Given the description of an element on the screen output the (x, y) to click on. 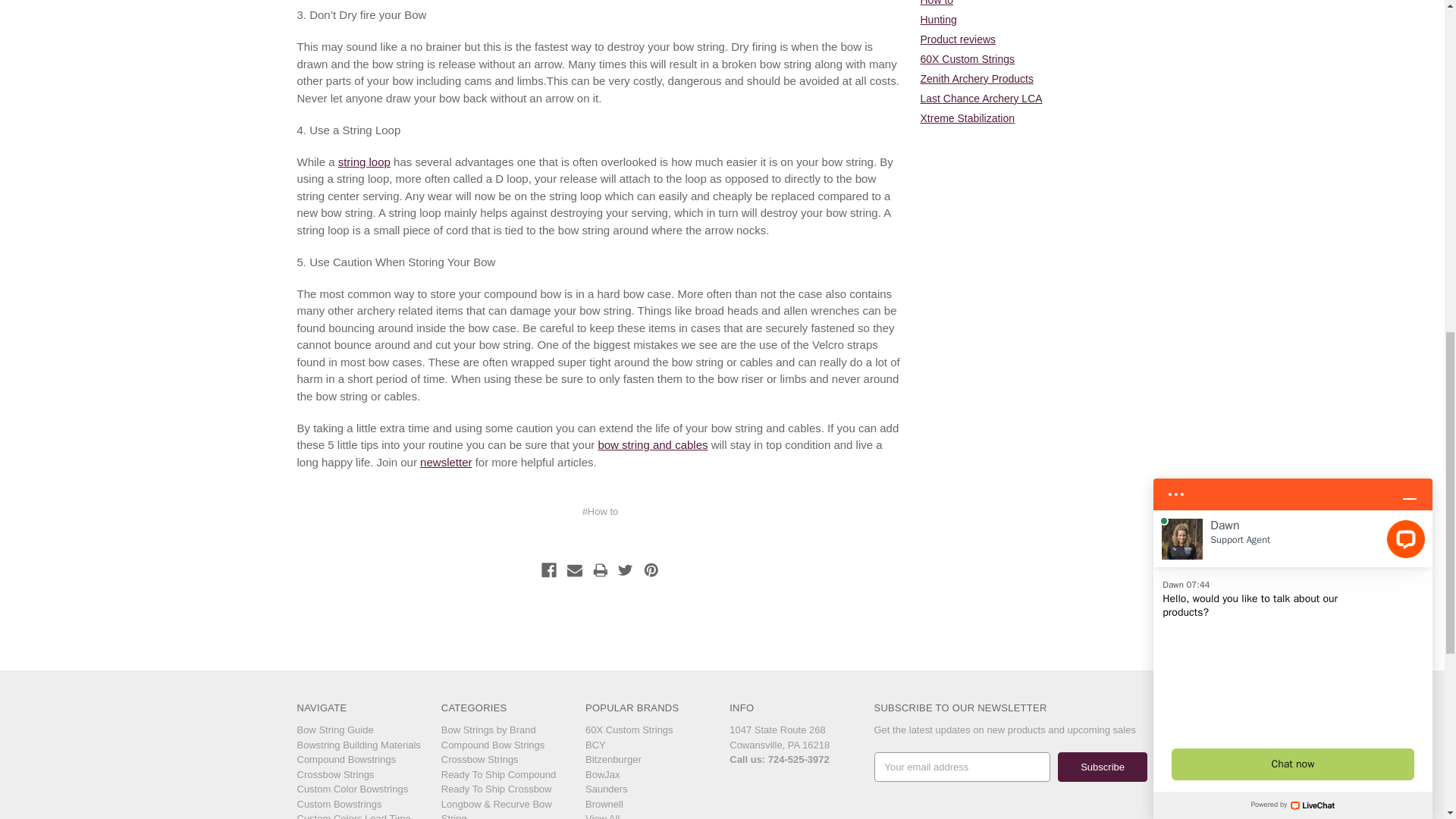
Subscribe (1103, 767)
